Given the description of an element on the screen output the (x, y) to click on. 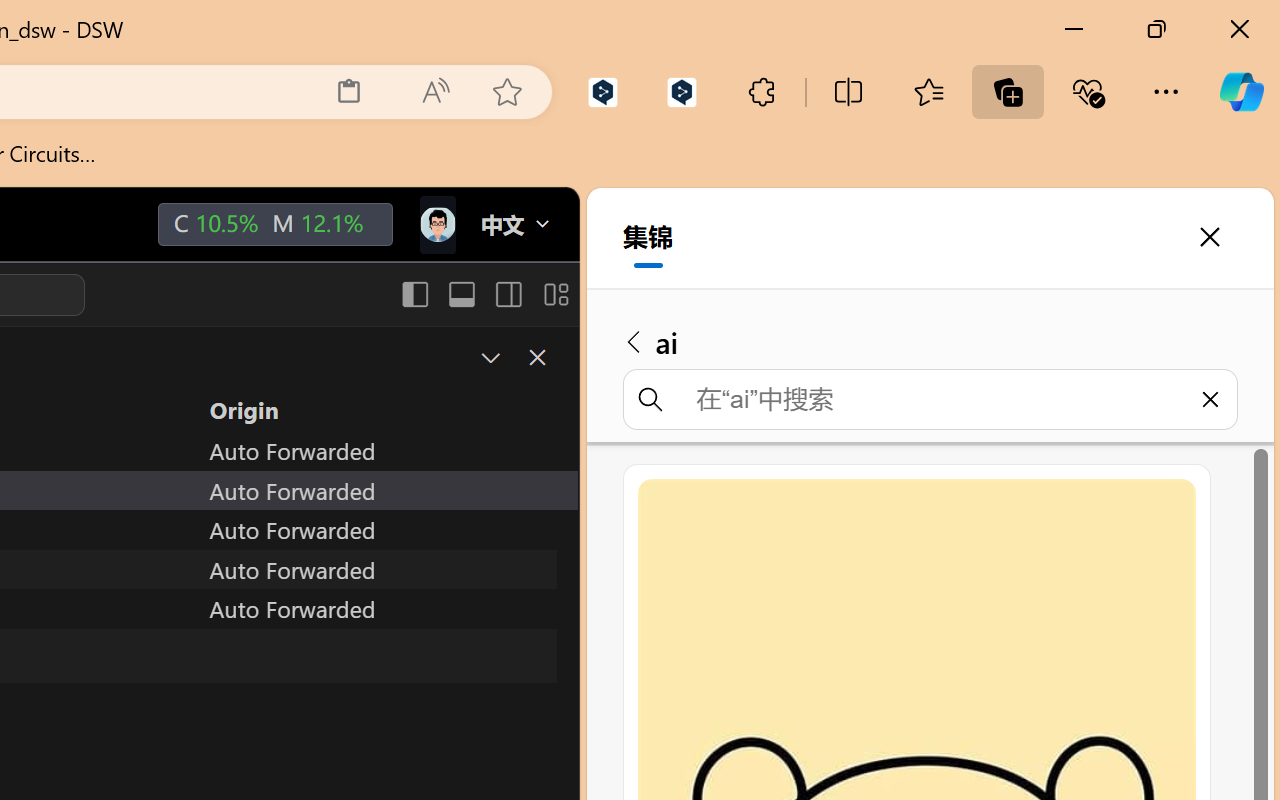
Restore Panel Size (488, 357)
icon (436, 224)
Toggle Secondary Side Bar (Ctrl+Alt+B) (506, 294)
Title actions (484, 294)
Close Panel (535, 357)
Customize Layout... (553, 294)
